Given the description of an element on the screen output the (x, y) to click on. 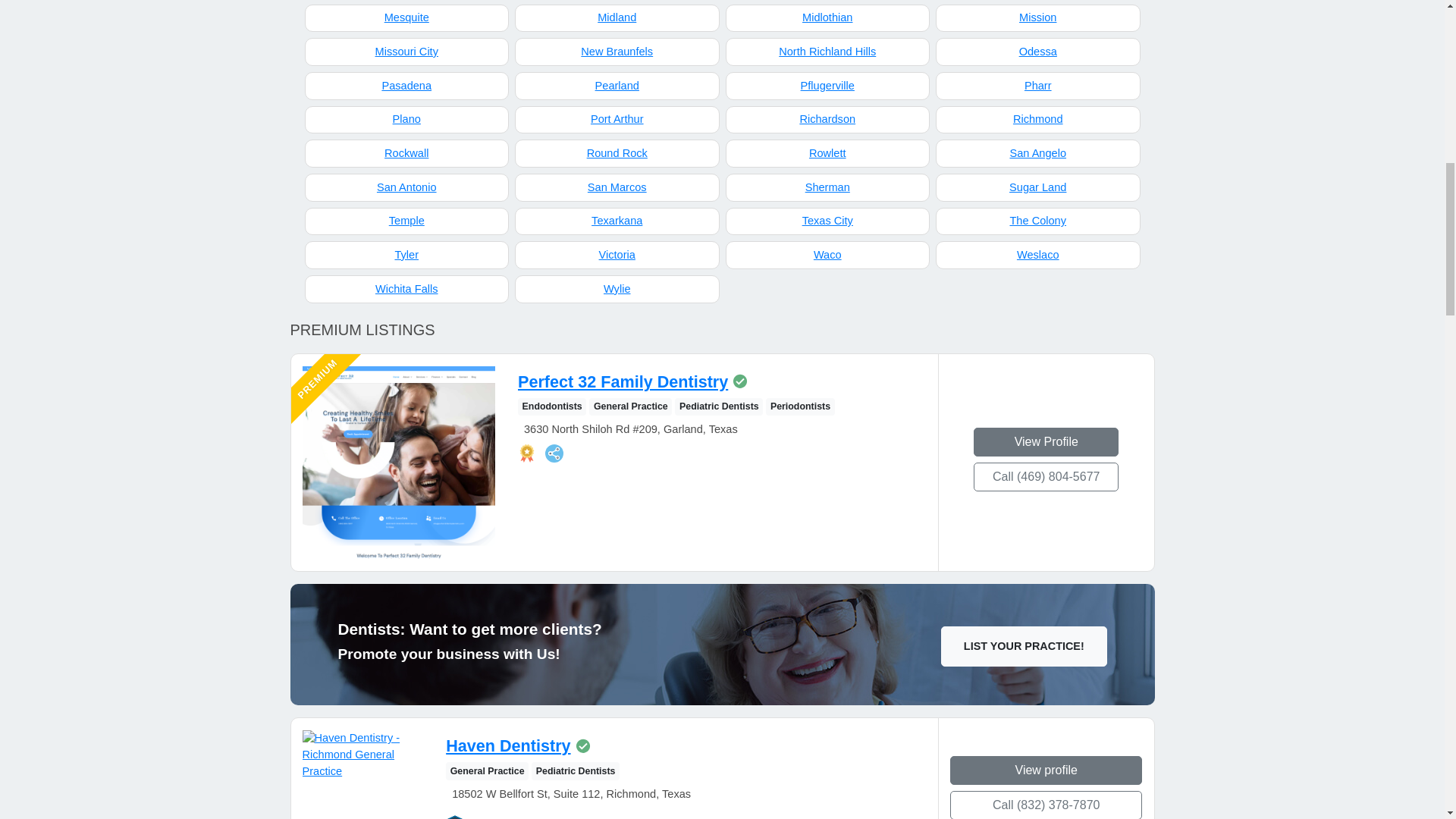
This listing is claimed by the owner (583, 745)
Top Patient Rated Practice (454, 816)
This listing is claimed by the owner (740, 381)
View the profile of Perfect 32 Family Dentistry (623, 381)
Premium listing (526, 453)
View the profile of Haven Dentistry (507, 745)
Social - You can easily reach that company on social media (553, 453)
